Given the description of an element on the screen output the (x, y) to click on. 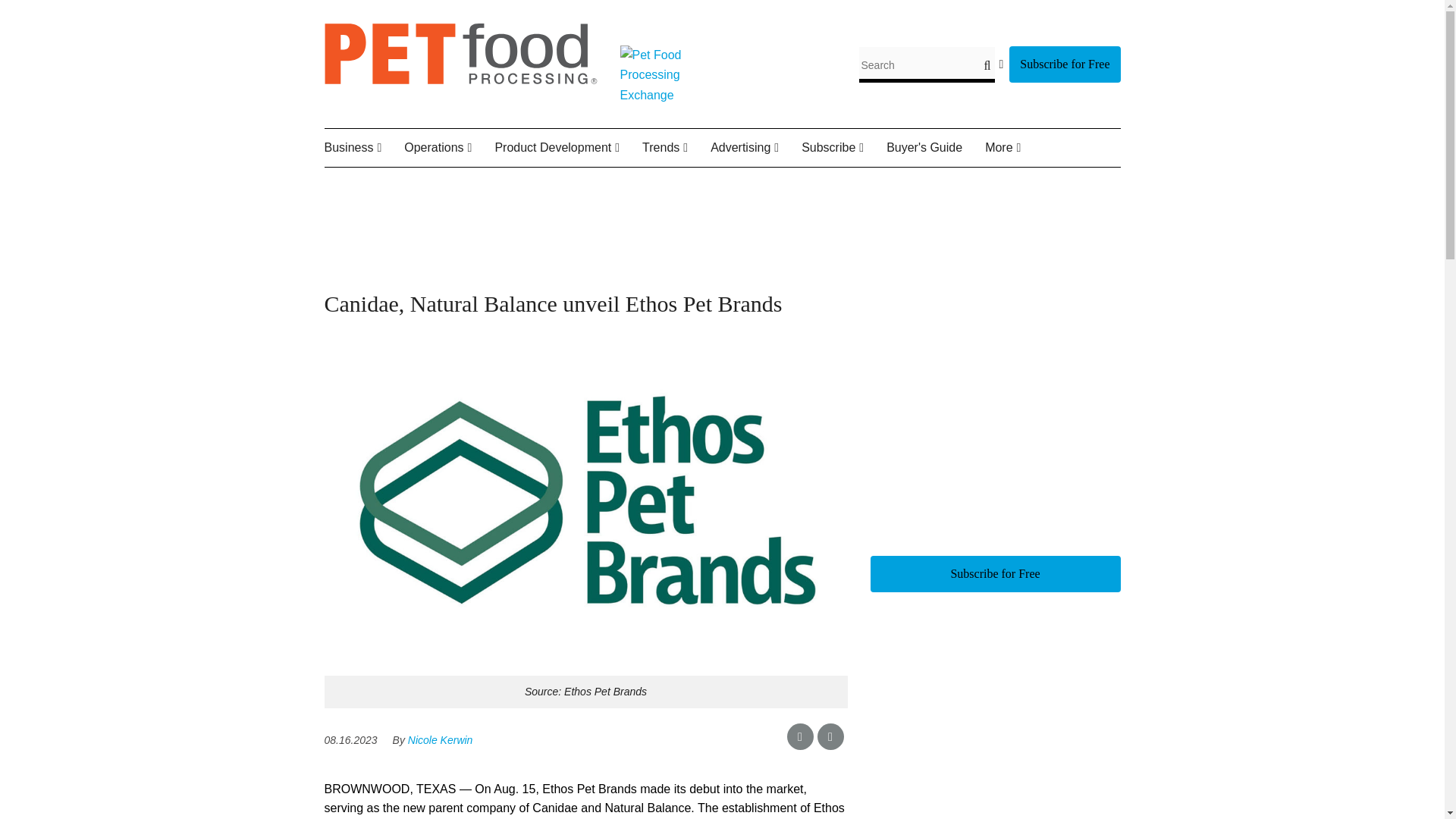
Patents (587, 184)
New Products (582, 184)
Ingredients and Formulations (570, 194)
Packaging (499, 184)
Equipment (480, 184)
Product Development (568, 148)
Pet Food (592, 184)
Business (364, 148)
Food Safety (494, 184)
Supply Chain (510, 184)
Subscribe for Free (1064, 63)
Petfood Processing (460, 80)
People (427, 184)
Operations (449, 148)
Regulatory (507, 184)
